Given the description of an element on the screen output the (x, y) to click on. 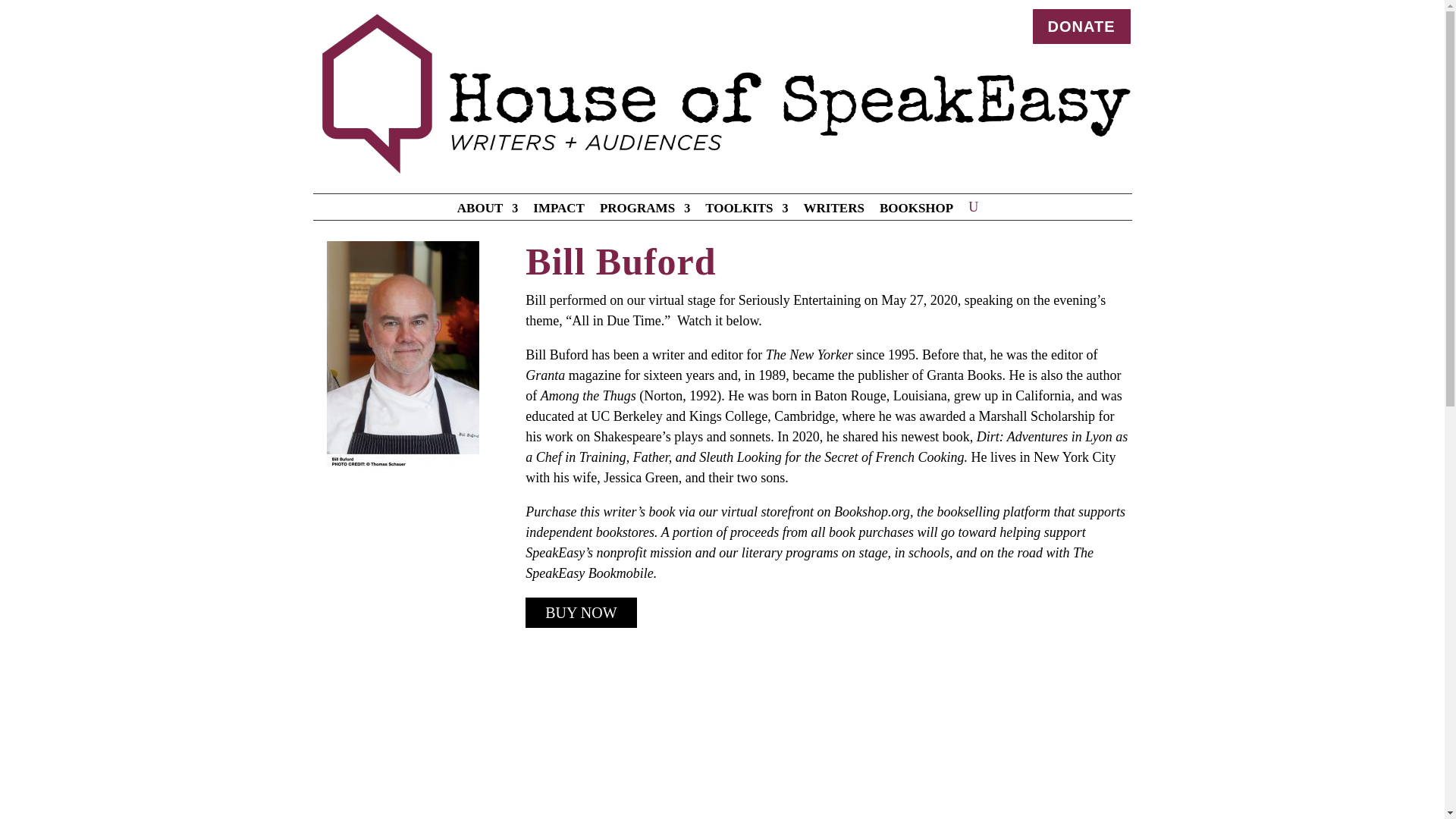
ABOUT (487, 211)
PROGRAMS (644, 211)
TOOLKITS (745, 211)
DONATE (1081, 26)
WRITERS (833, 211)
IMPACT (558, 211)
BOOKSHOP (916, 211)
